Given the description of an element on the screen output the (x, y) to click on. 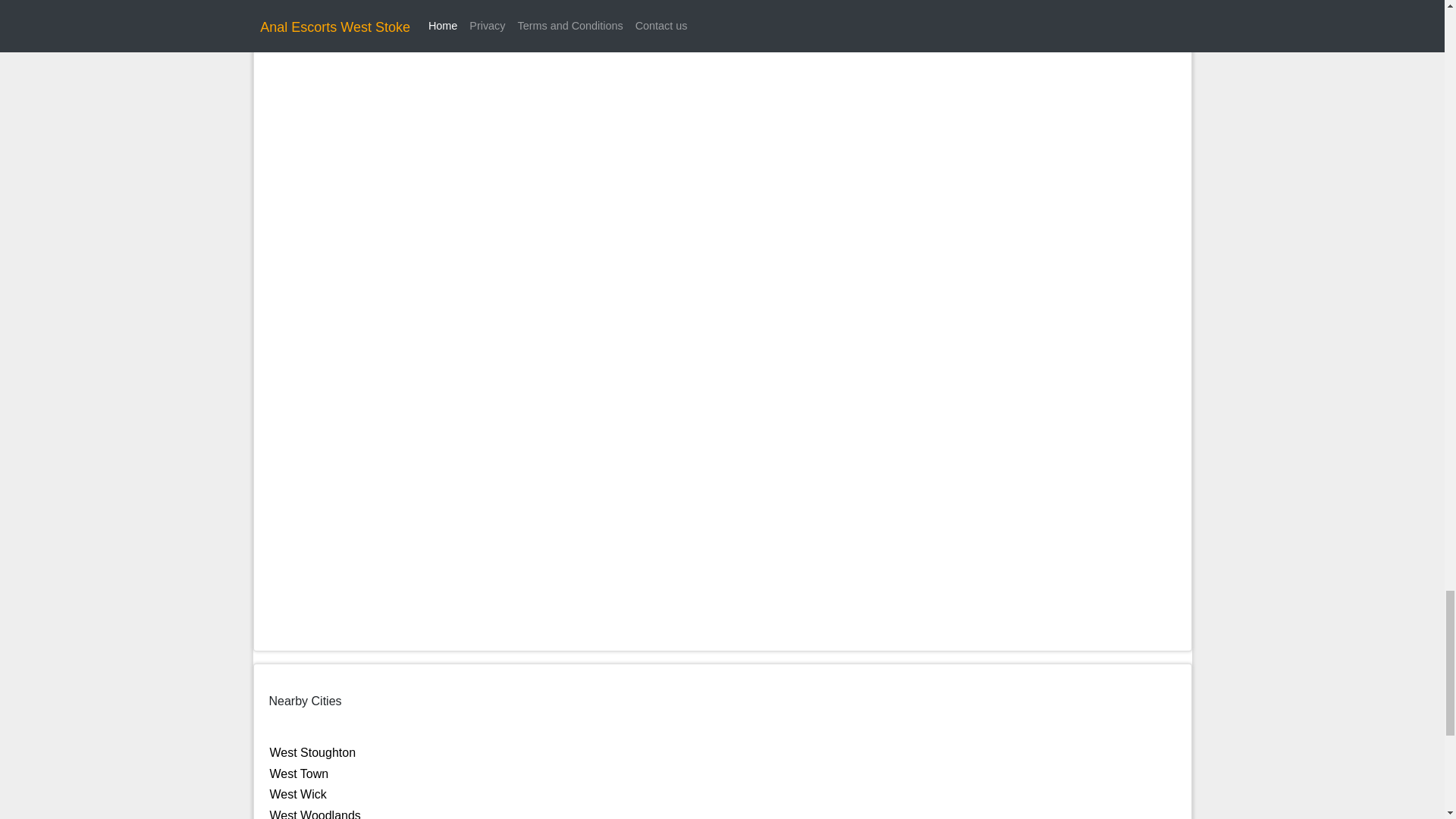
West Stoughton (312, 752)
West Town (299, 773)
West Woodlands (315, 814)
West Wick (297, 793)
